Given the description of an element on the screen output the (x, y) to click on. 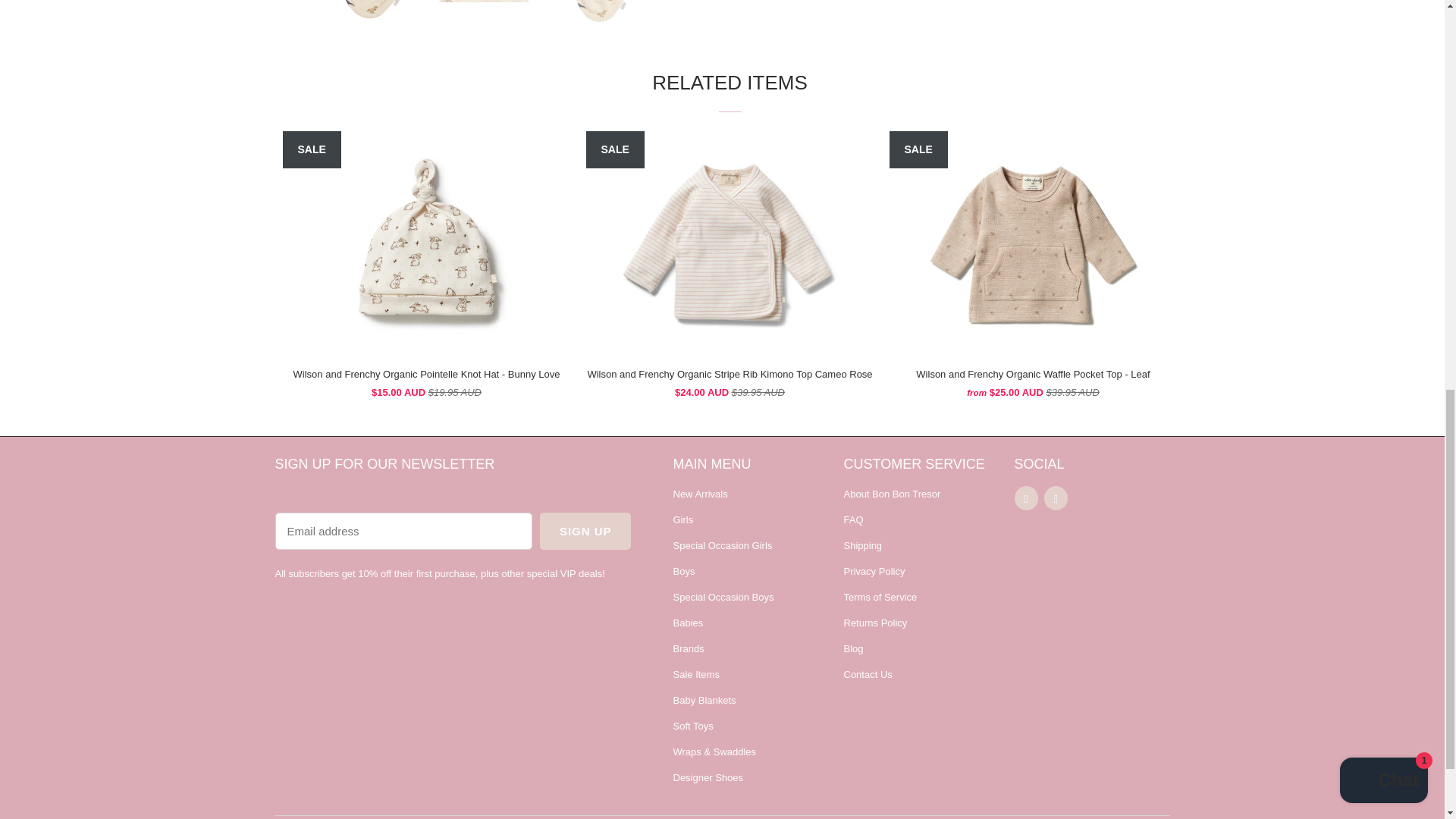
Bon Bon Tresor on Instagram (1055, 498)
Sign Up (585, 530)
Bon Bon Tresor on Facebook (1026, 498)
